Given the description of an element on the screen output the (x, y) to click on. 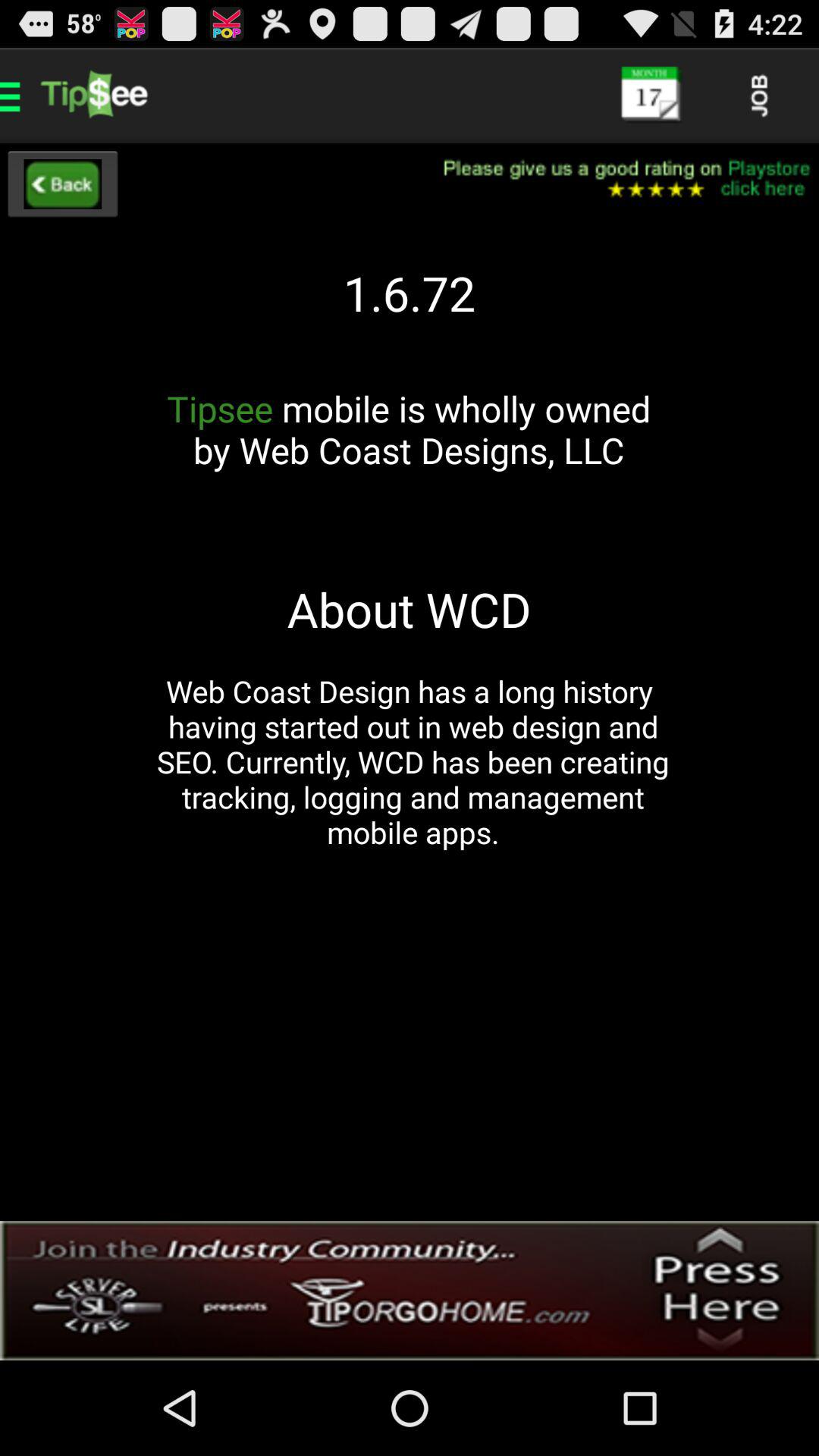
advertisement (409, 1290)
